Given the description of an element on the screen output the (x, y) to click on. 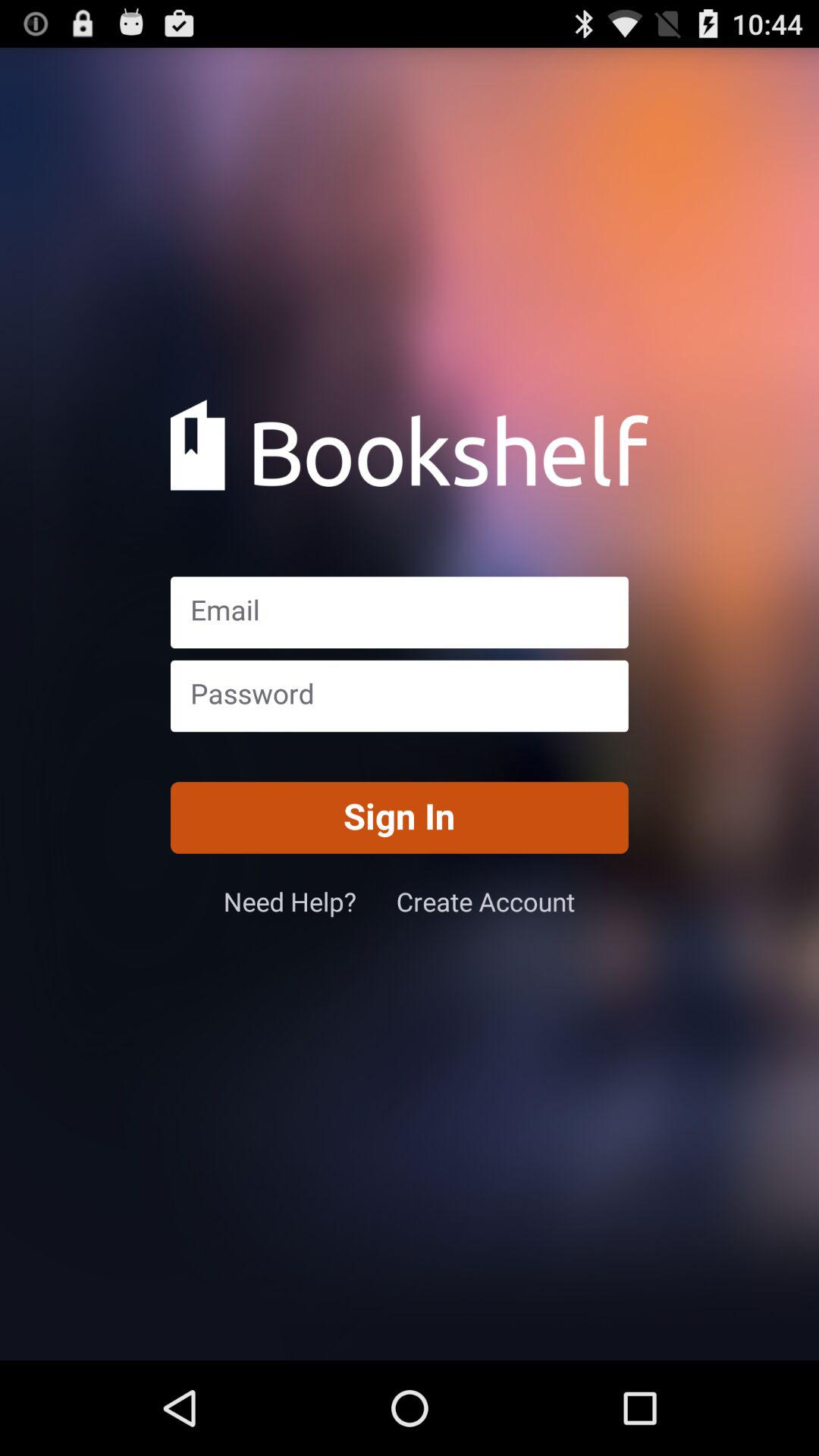
enter password (399, 695)
